Given the description of an element on the screen output the (x, y) to click on. 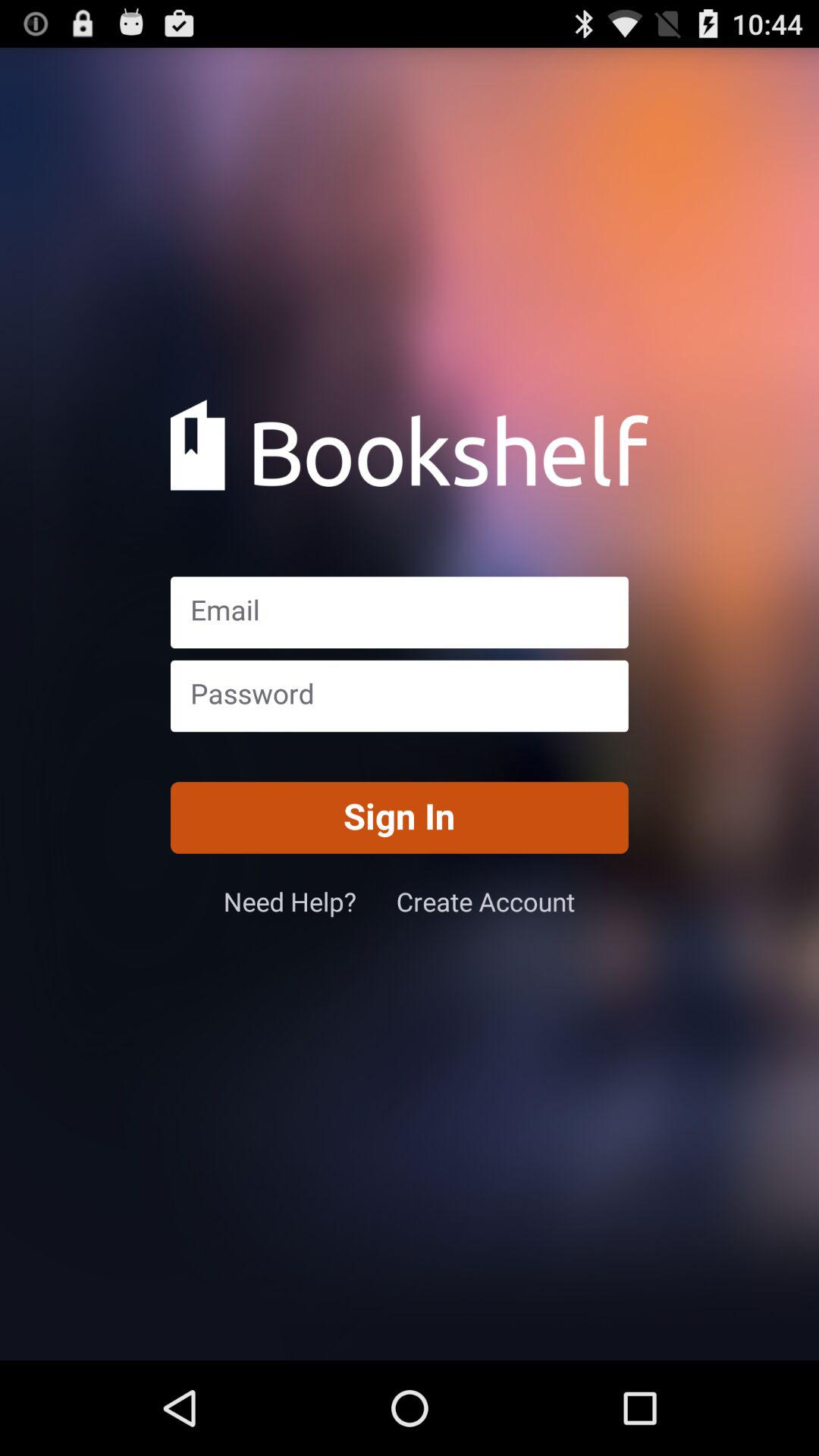
enter password (399, 695)
